Given the description of an element on the screen output the (x, y) to click on. 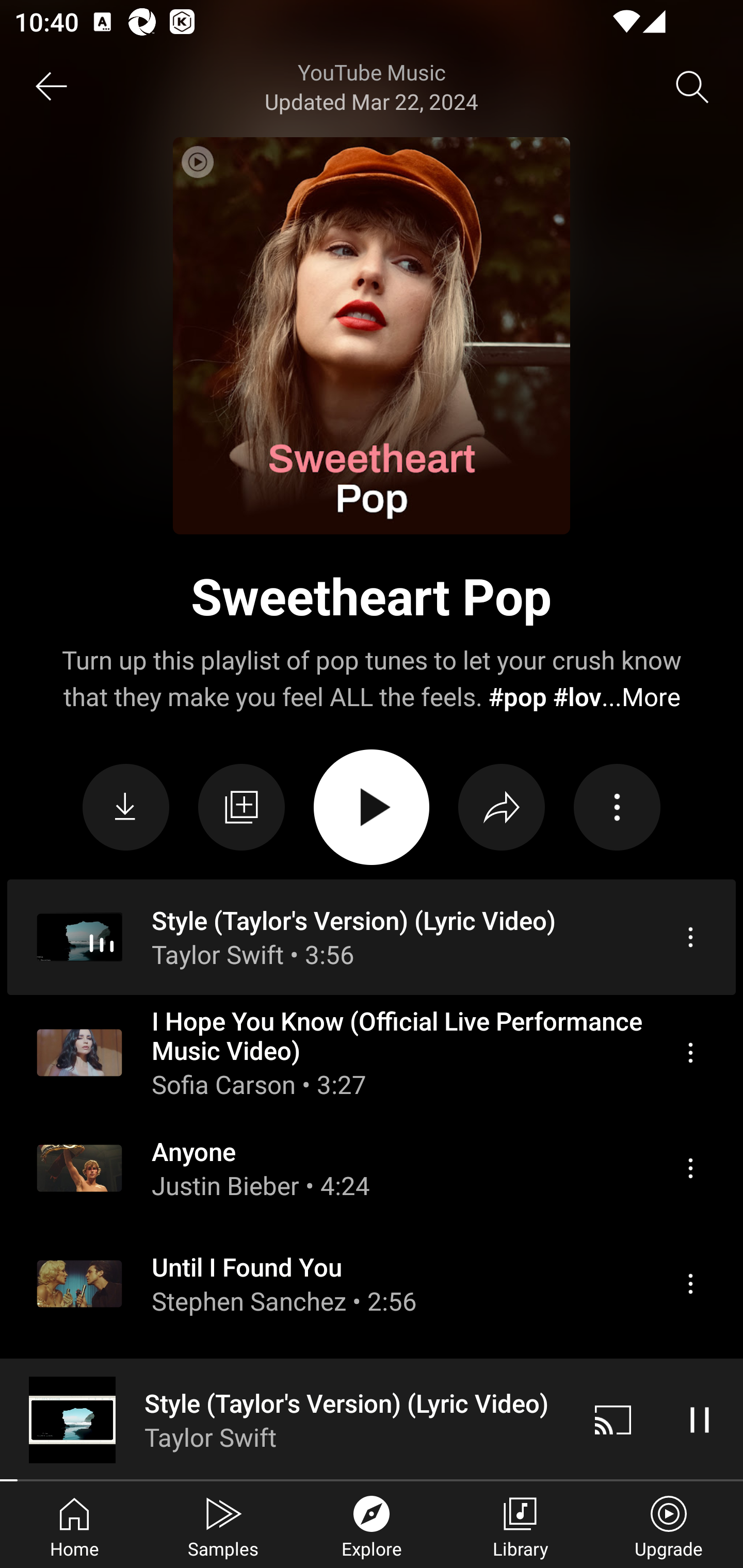
Back (50, 86)
Search (692, 86)
PLAY ALL (371, 807)
Download (125, 807)
Save to library (241, 807)
Share (501, 807)
Action menu (616, 807)
Menu (690, 937)
Menu (690, 1052)
Menu (690, 1168)
Menu (690, 1284)
Cast. Disconnected (612, 1419)
Pause video (699, 1419)
Menu (690, 1479)
Home (74, 1524)
Samples (222, 1524)
Library (519, 1524)
Upgrade (668, 1524)
